Given the description of an element on the screen output the (x, y) to click on. 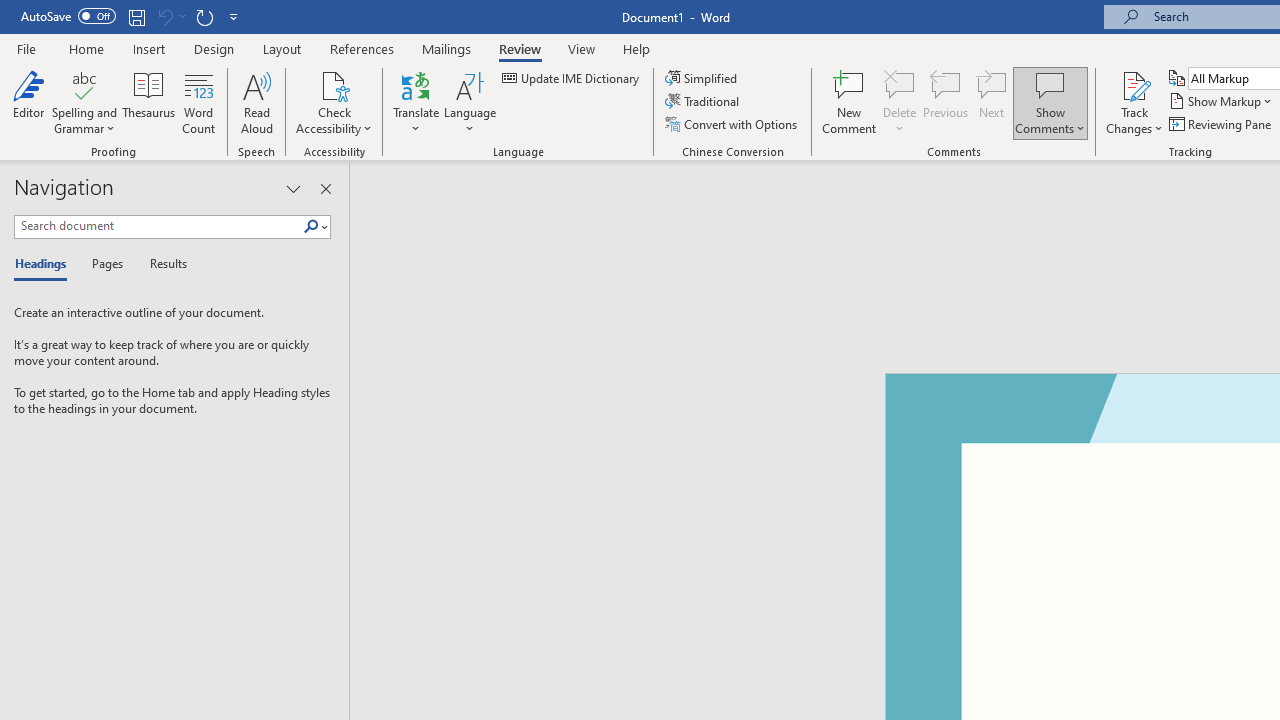
Spelling and Grammar (84, 84)
Next (991, 102)
Check Accessibility (334, 102)
Read Aloud (256, 102)
Update IME Dictionary... (572, 78)
Track Changes (1134, 102)
Show Markup (1222, 101)
